Given the description of an element on the screen output the (x, y) to click on. 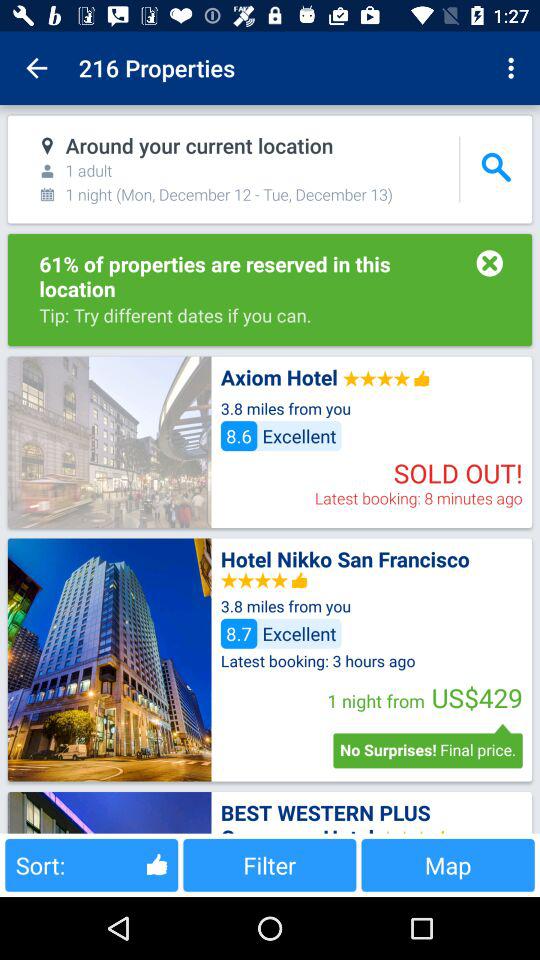
click on the icon which is top right corner (514, 68)
